Given the description of an element on the screen output the (x, y) to click on. 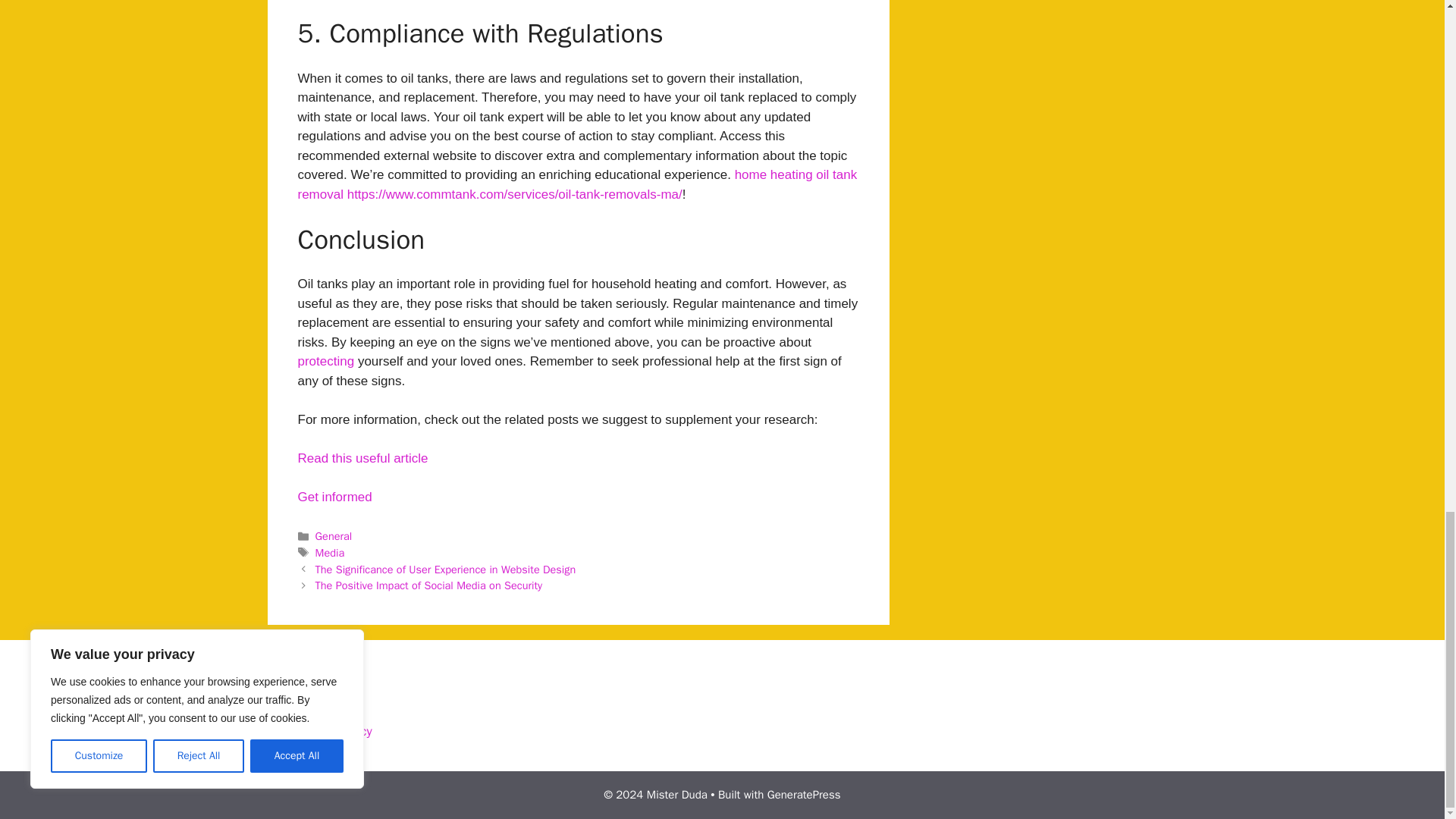
Media (330, 552)
General (333, 535)
The Positive Impact of Social Media on Security (429, 585)
The Significance of User Experience in Website Design (445, 569)
protecting (325, 360)
Read this useful article (362, 458)
Get informed (334, 496)
